Given the description of an element on the screen output the (x, y) to click on. 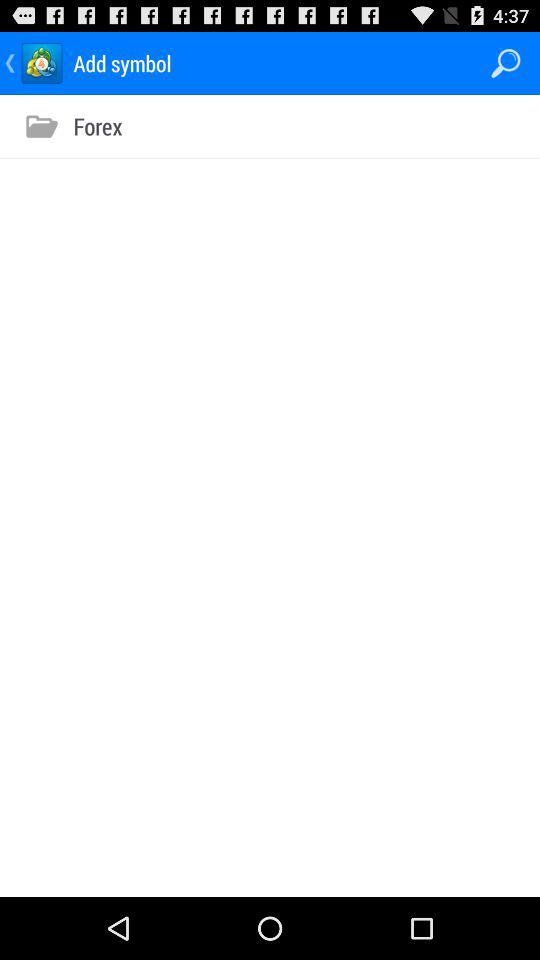
jump until the forex (103, 125)
